Given the description of an element on the screen output the (x, y) to click on. 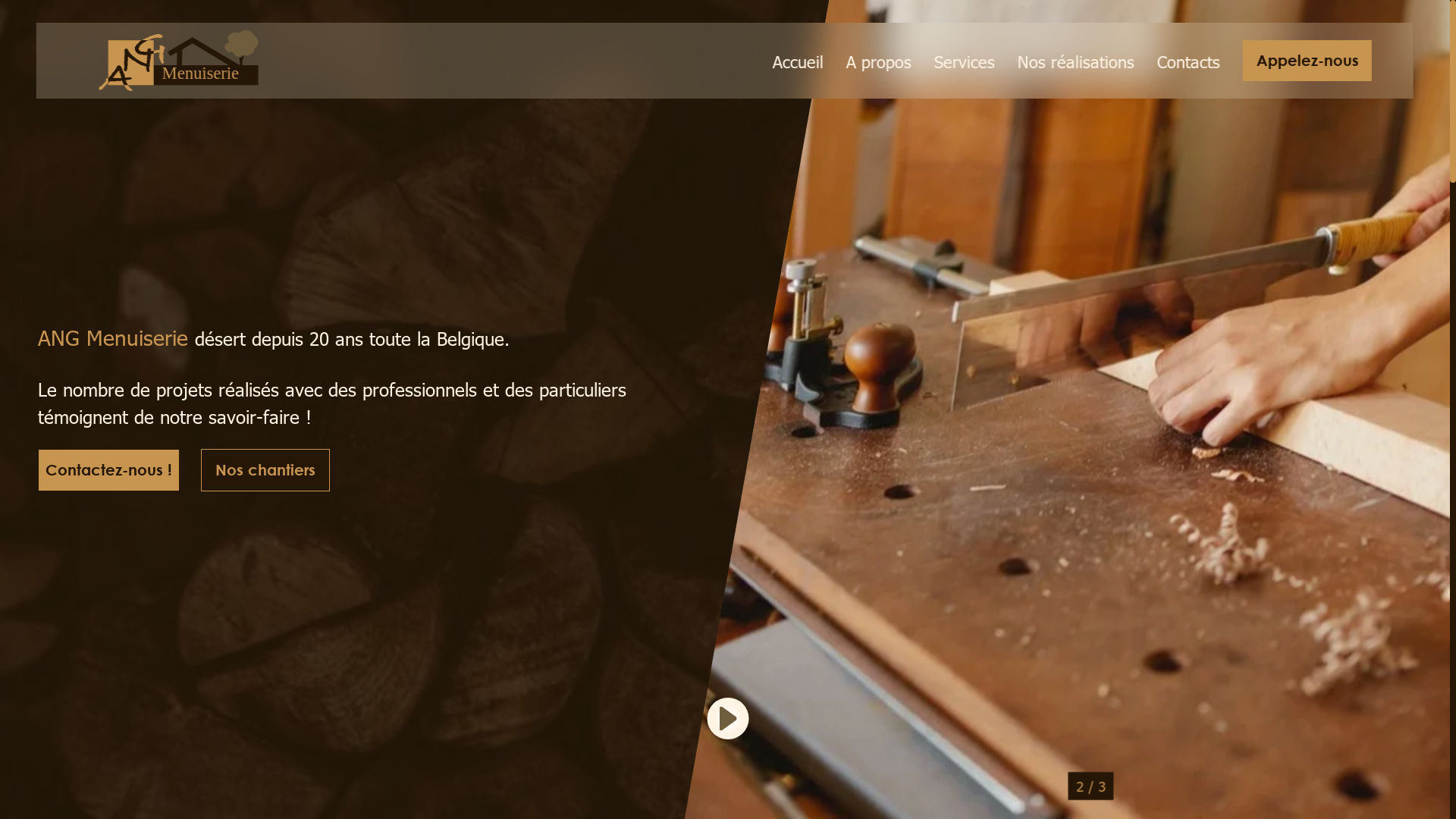
Contactez-nous ! Element type: text (108, 469)
Accueil Element type: text (797, 60)
Nos chantiers Element type: text (264, 469)
Contacts Element type: text (1188, 60)
A propos Element type: text (878, 60)
Services Element type: text (964, 60)
Appelez-nous Element type: text (1306, 60)
